Given the description of an element on the screen output the (x, y) to click on. 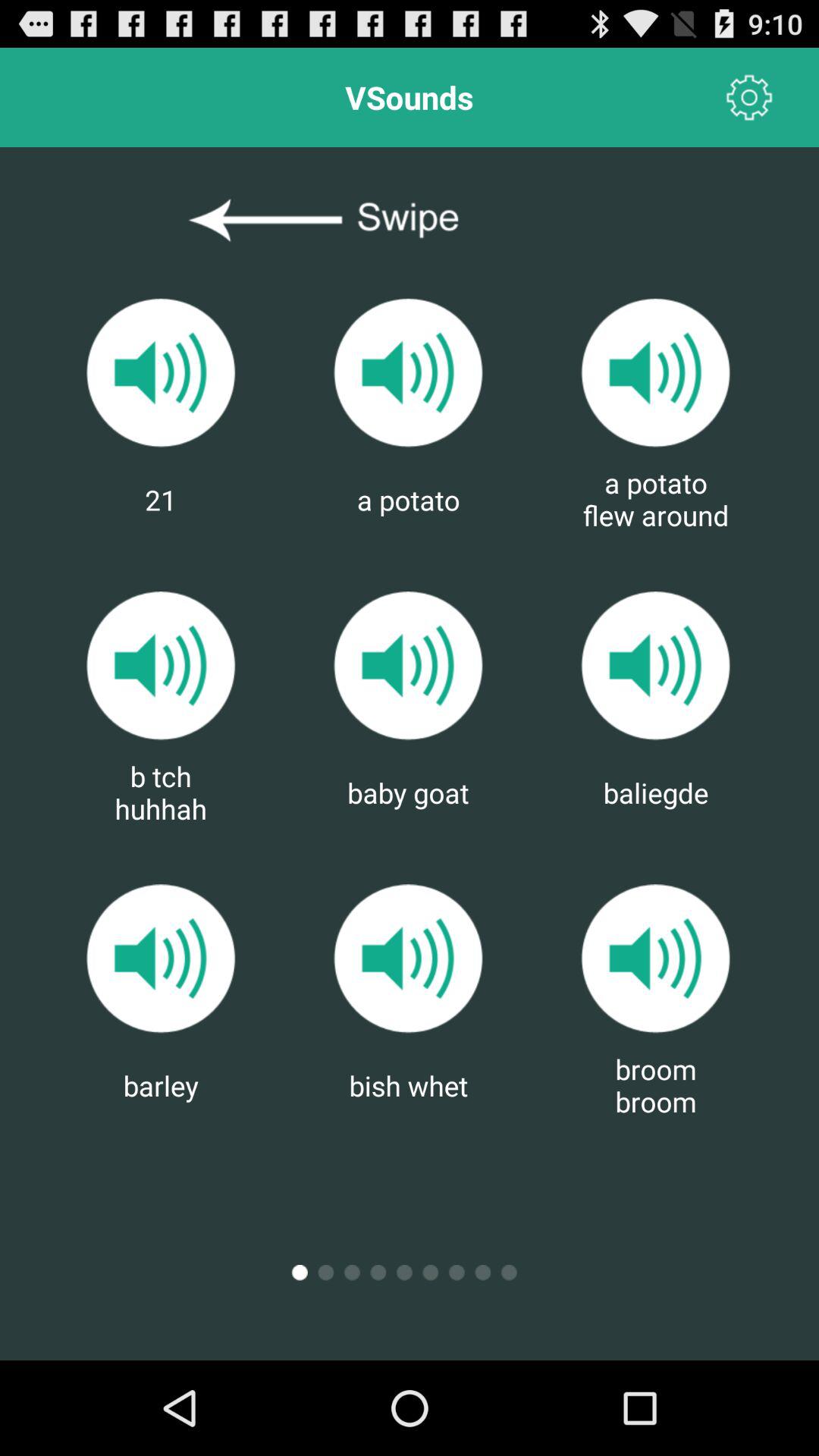
go to swipe option (409, 220)
